Given the description of an element on the screen output the (x, y) to click on. 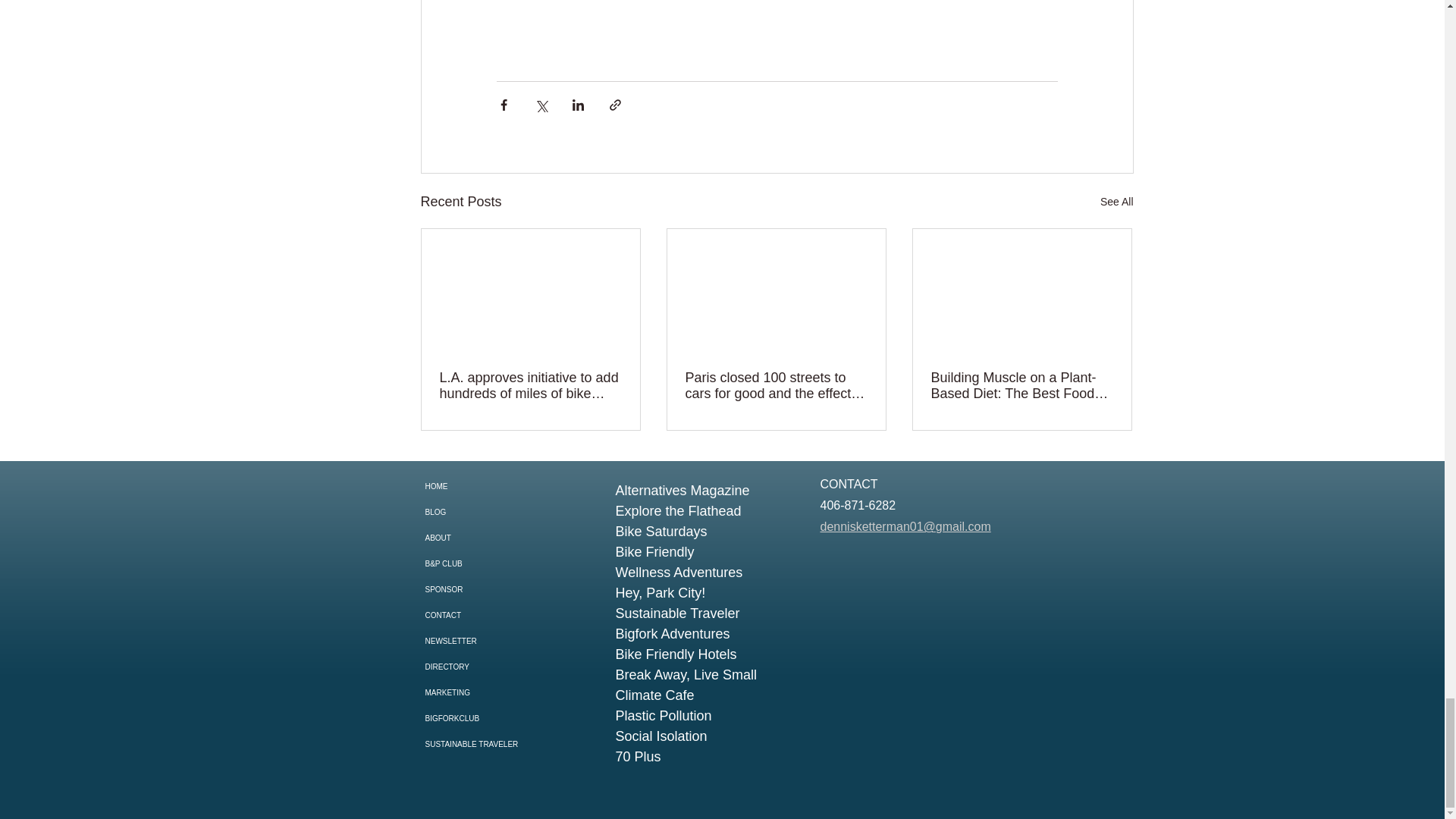
See All (1117, 201)
